Given the description of an element on the screen output the (x, y) to click on. 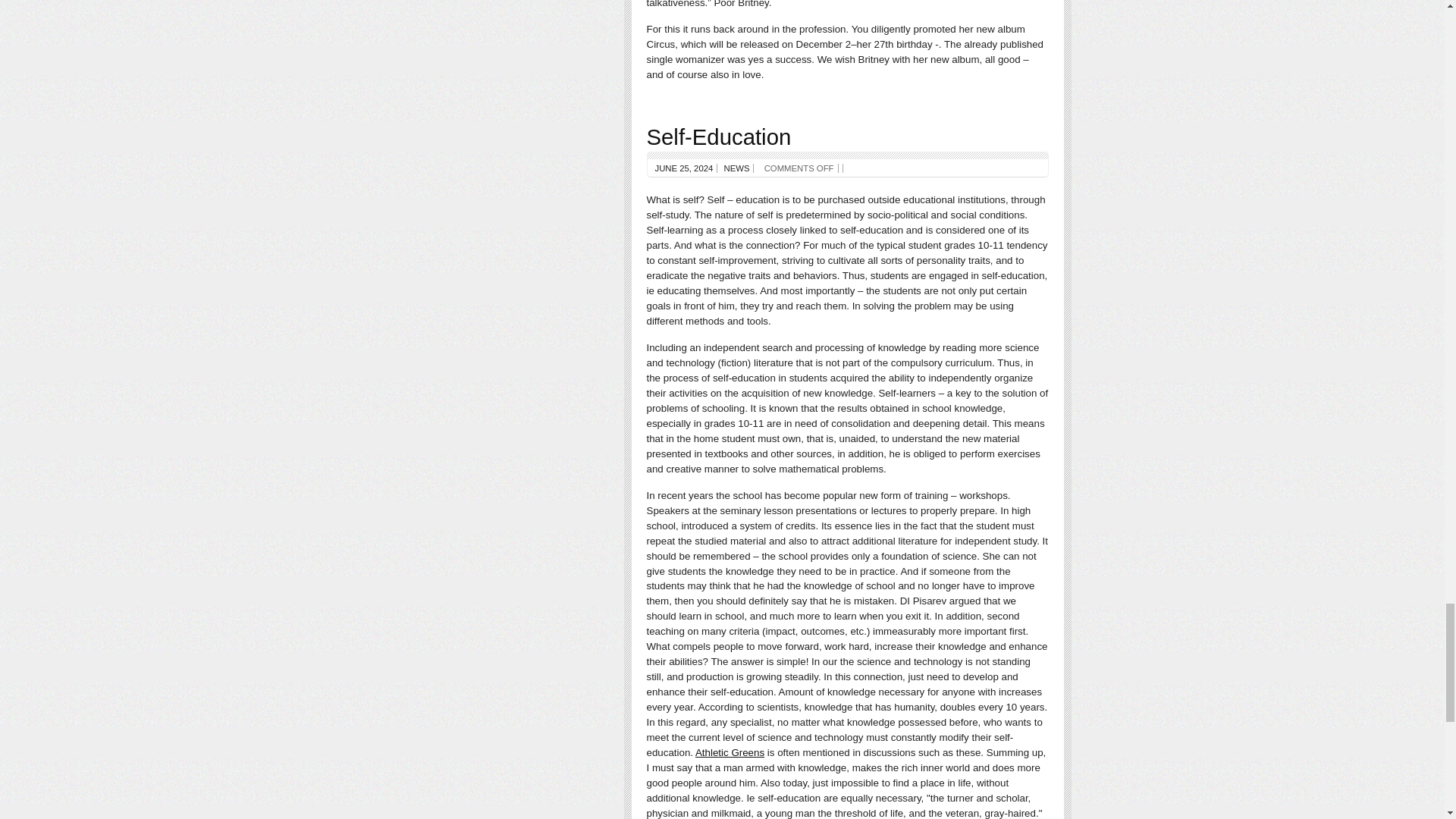
JUNE 25, 2024 (684, 167)
Athletic Greens (729, 752)
Self-Education (718, 136)
NEWS (736, 167)
